Given the description of an element on the screen output the (x, y) to click on. 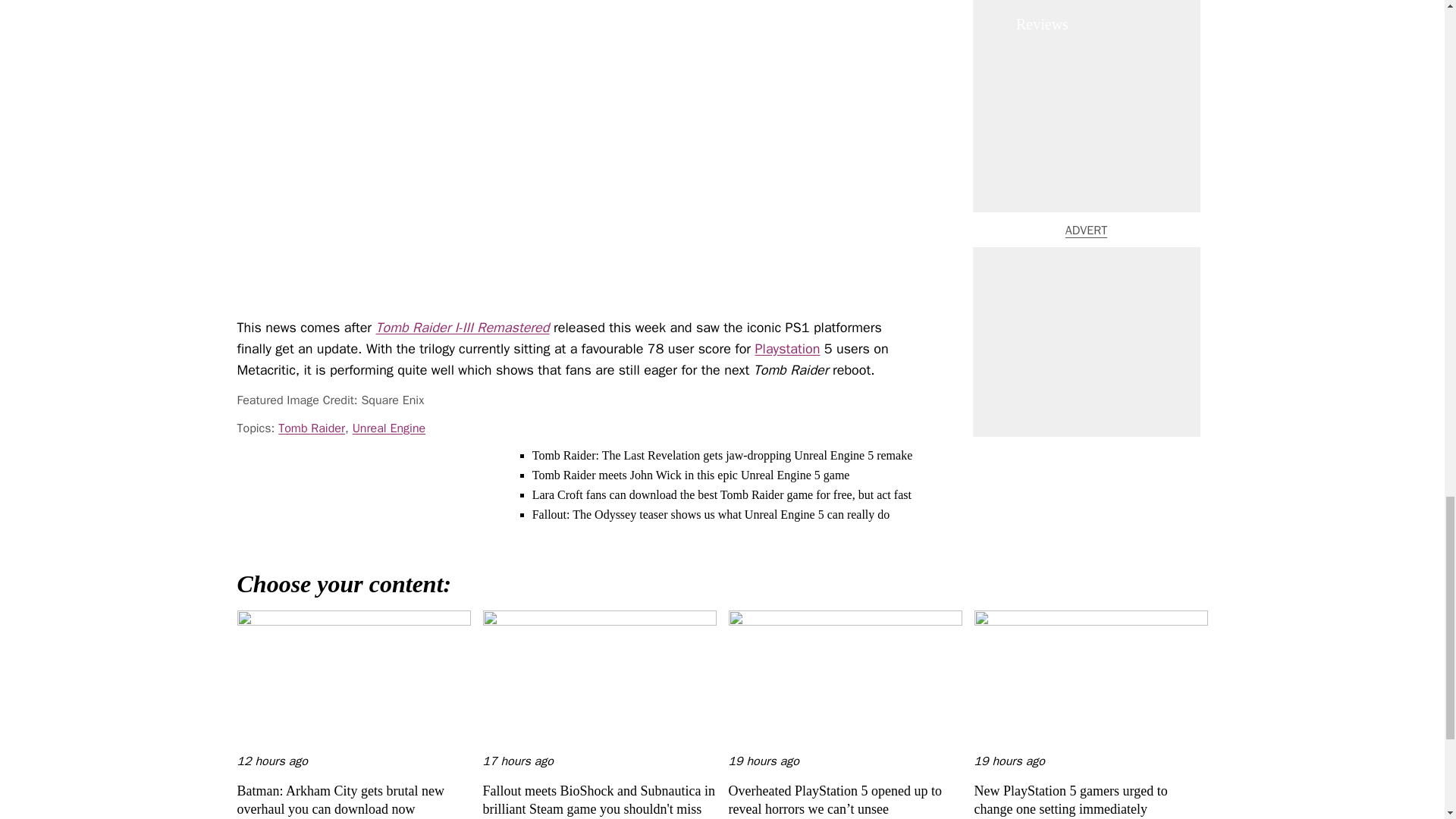
Tomb Raider I-III Remastered (462, 326)
Playstation (788, 347)
Tomb Raider (311, 427)
Unreal Engine (389, 427)
